Given the description of an element on the screen output the (x, y) to click on. 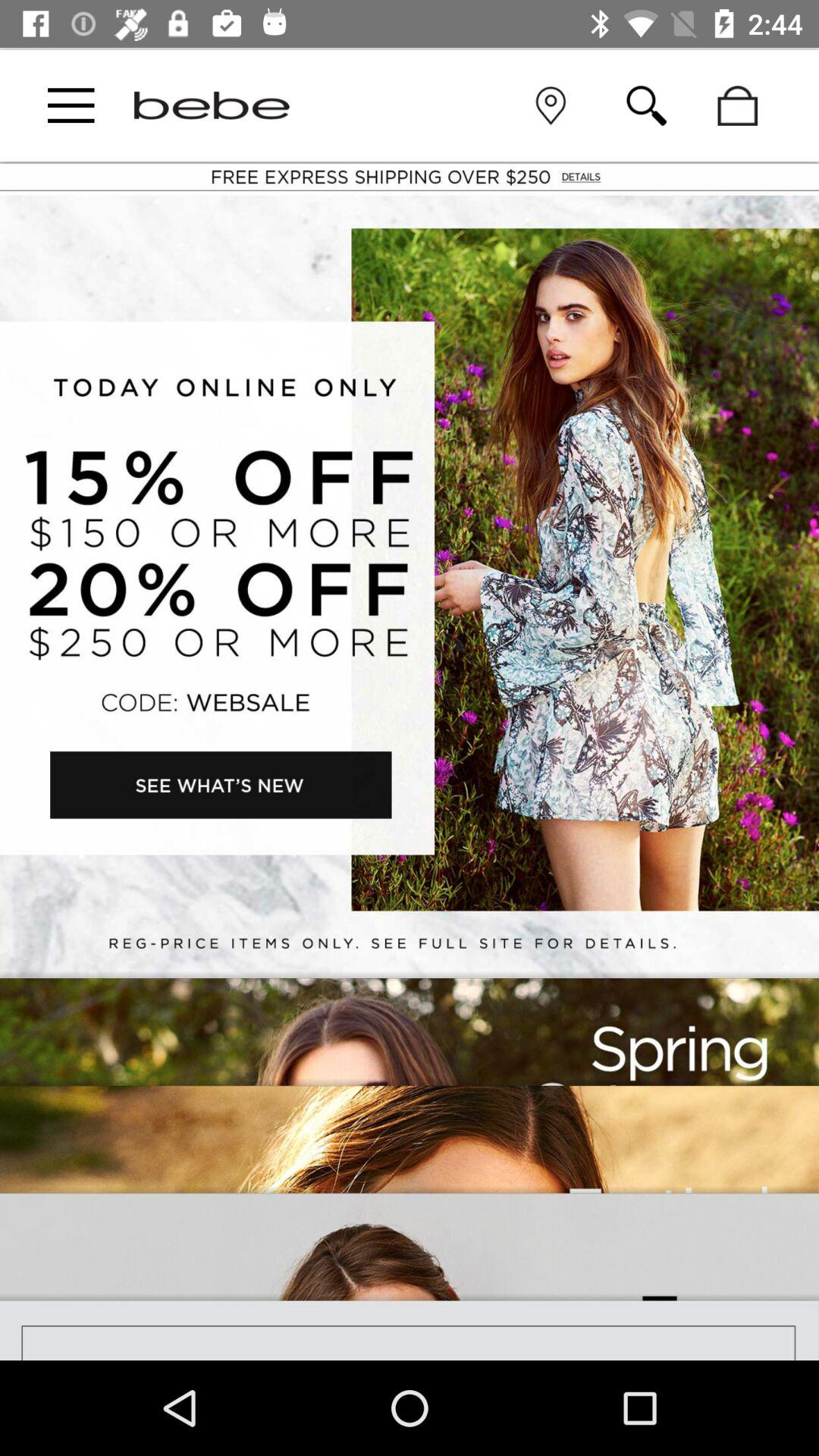
go home (211, 105)
